Given the description of an element on the screen output the (x, y) to click on. 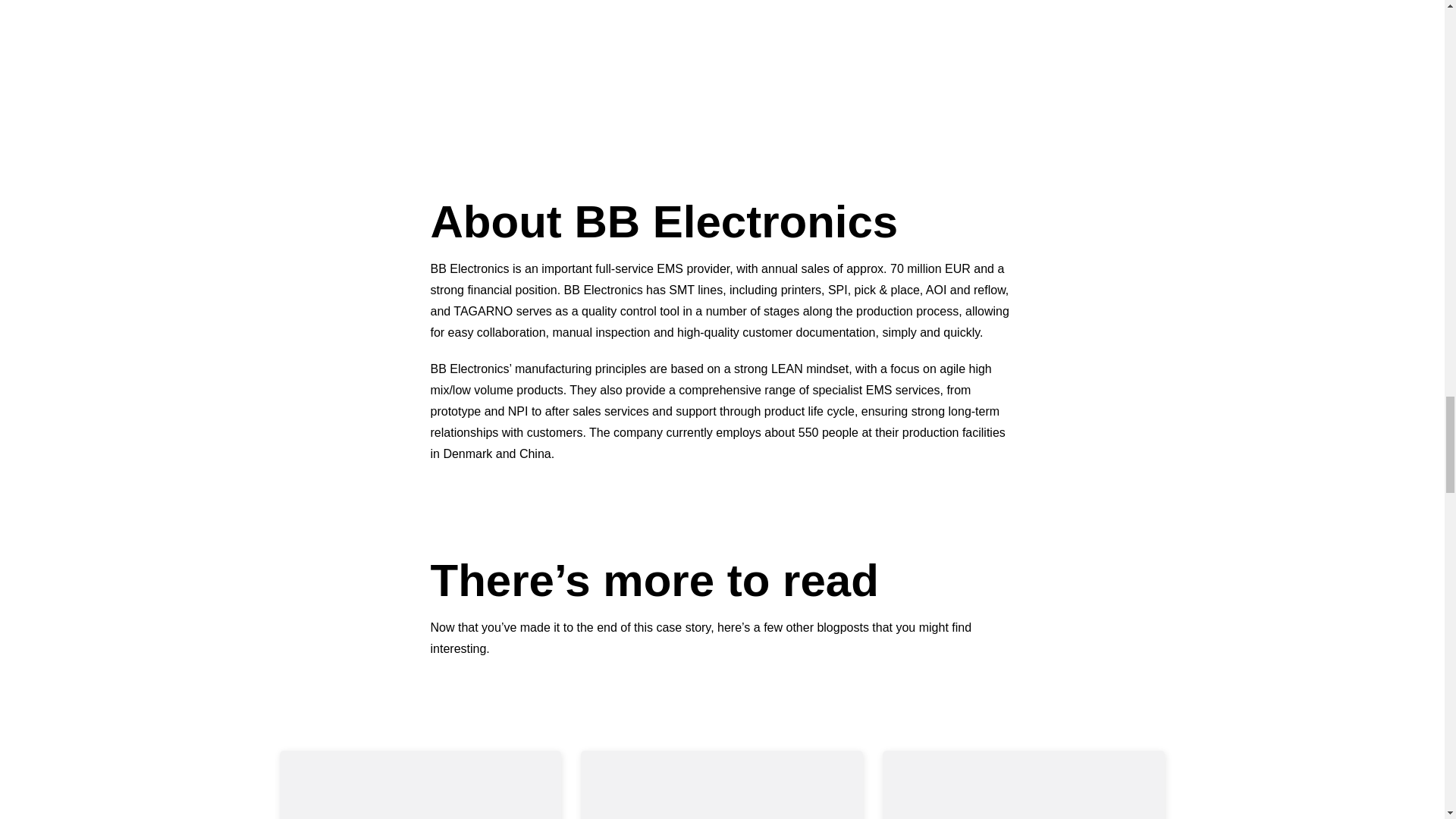
Read more (1023, 785)
Read more (419, 785)
Read more (721, 785)
